Given the description of an element on the screen output the (x, y) to click on. 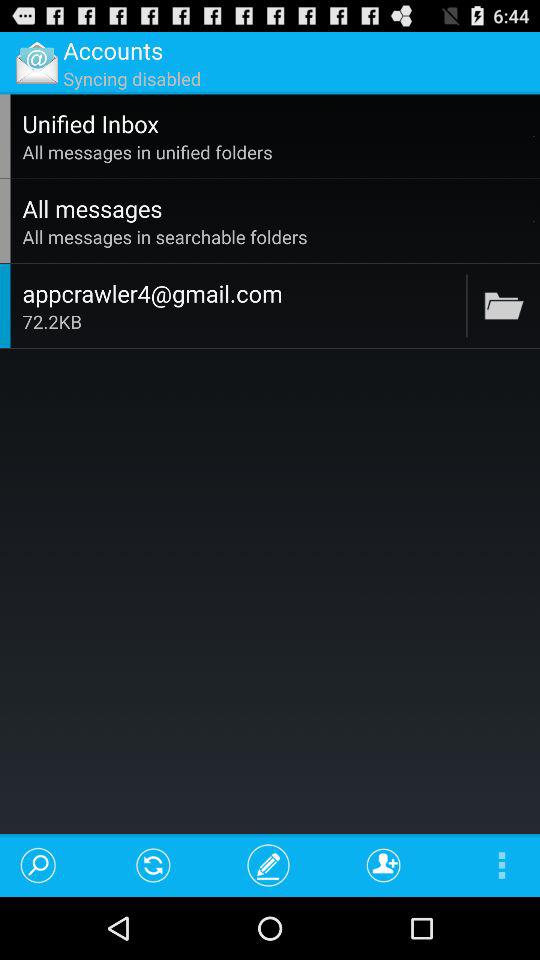
turn on the icon to the right of all messages app (533, 220)
